Given the description of an element on the screen output the (x, y) to click on. 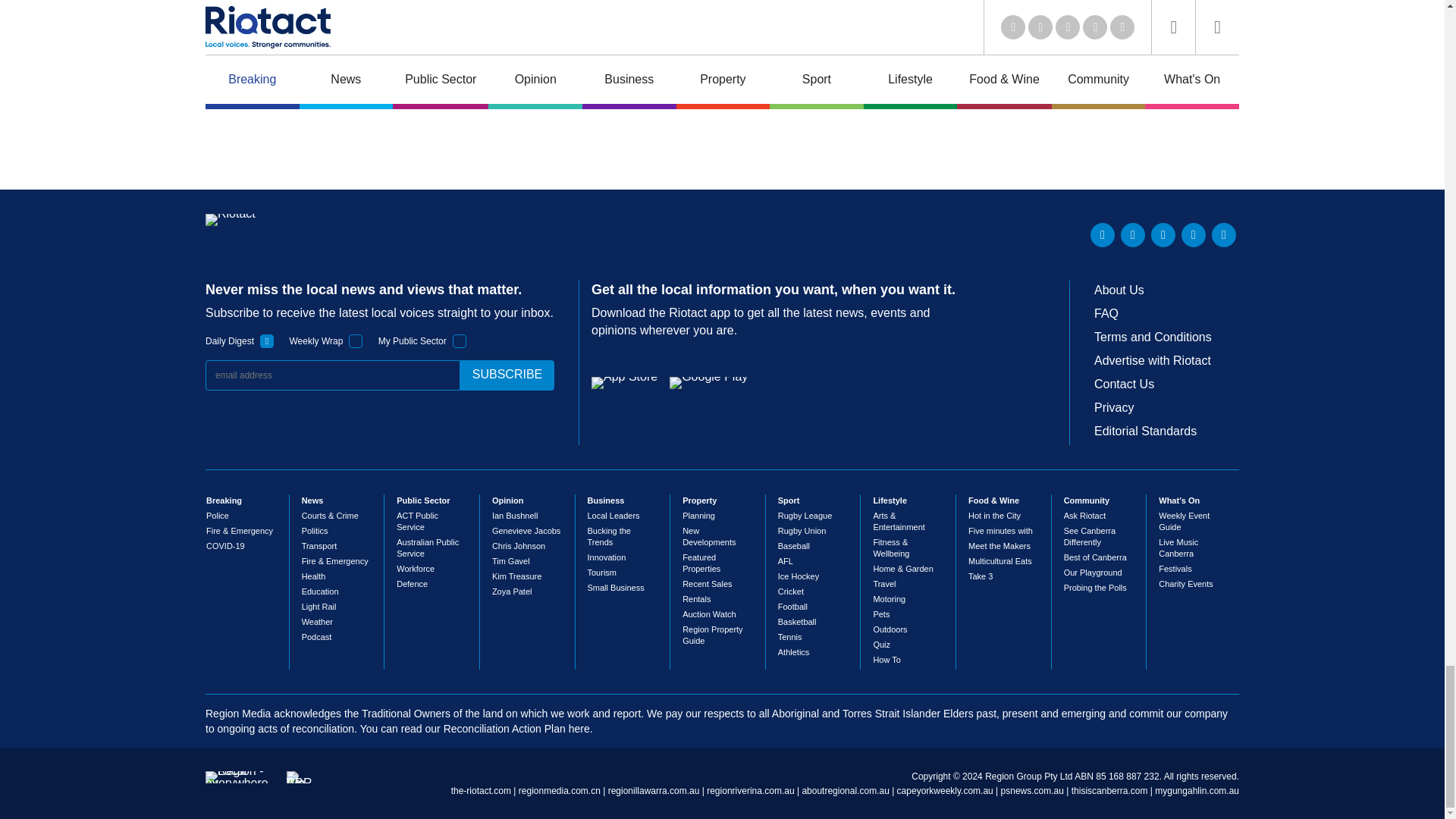
Facebook (1192, 234)
Twitter (1132, 234)
1 (266, 341)
Instagram (1223, 234)
1 (355, 341)
Youtube (1162, 234)
subscribe (507, 375)
LinkedIn (1102, 234)
App Store (624, 382)
1 (458, 341)
